Given the description of an element on the screen output the (x, y) to click on. 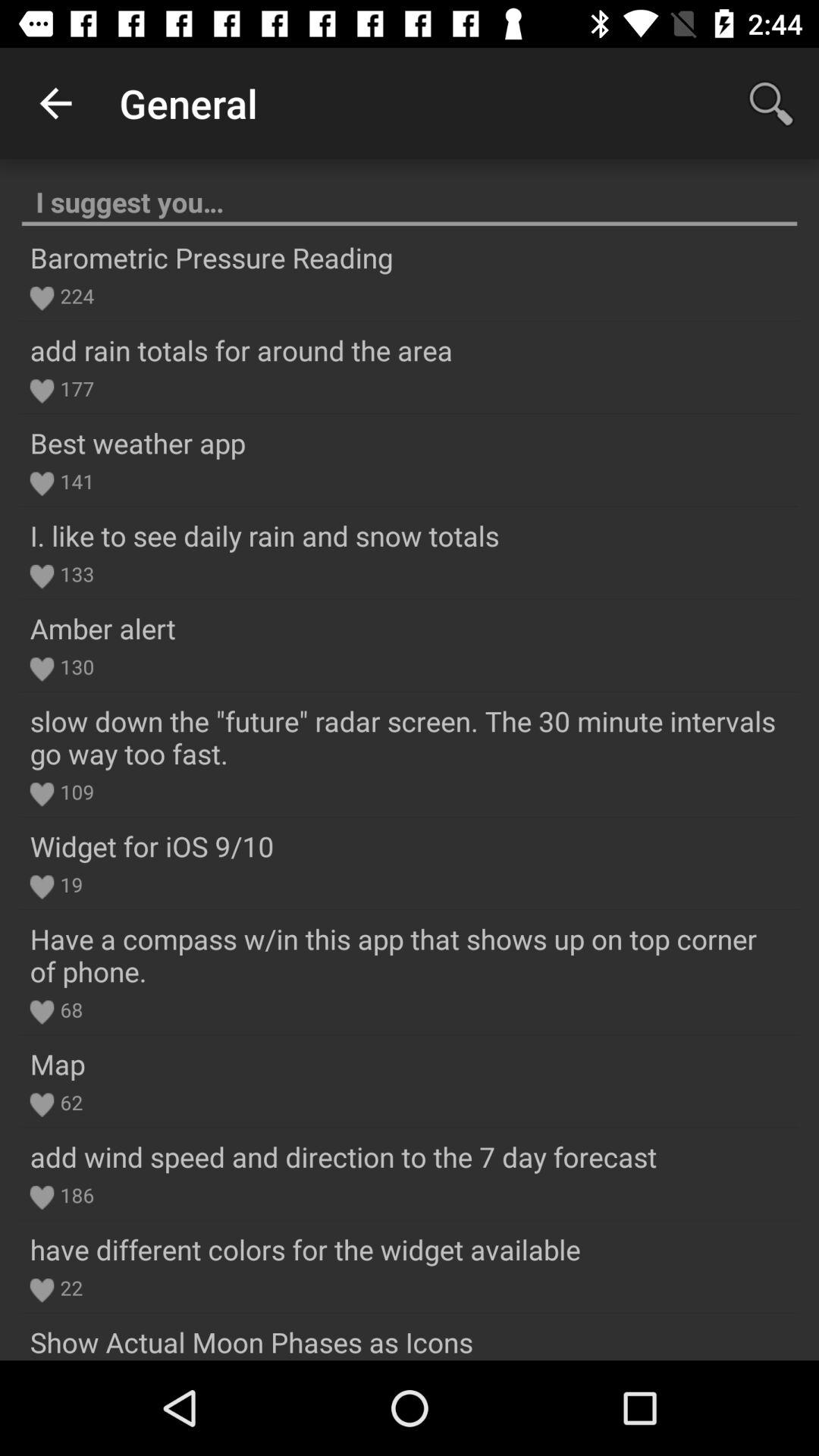
tap the add wind speed (343, 1156)
